Given the description of an element on the screen output the (x, y) to click on. 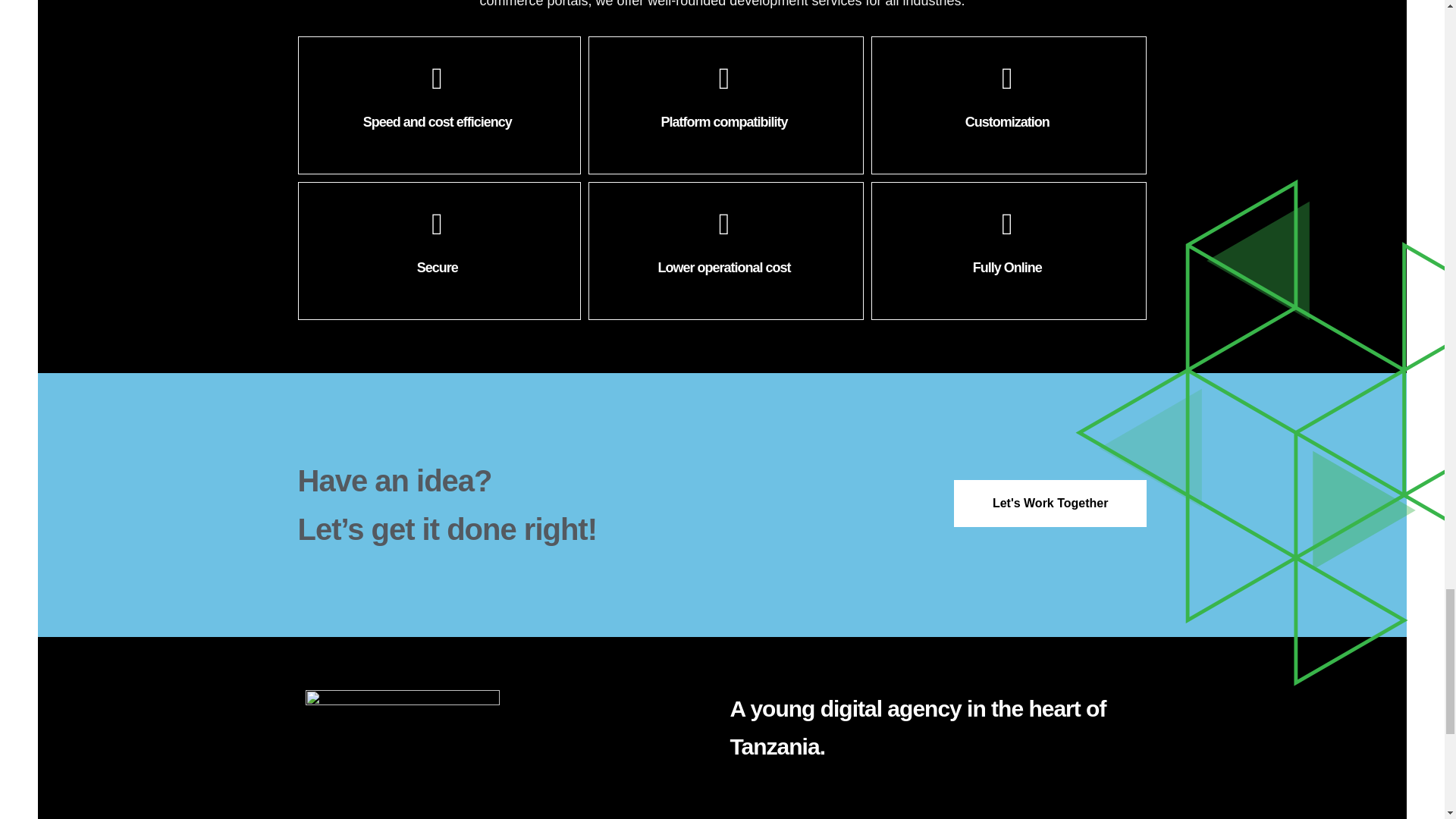
Lower operational cost (725, 250)
Secure (438, 250)
Customization (1008, 105)
Platform compatibility (725, 105)
Let's Work Together (1050, 503)
Fully Online (1008, 250)
Speed and cost efficiency (438, 105)
